Given the description of an element on the screen output the (x, y) to click on. 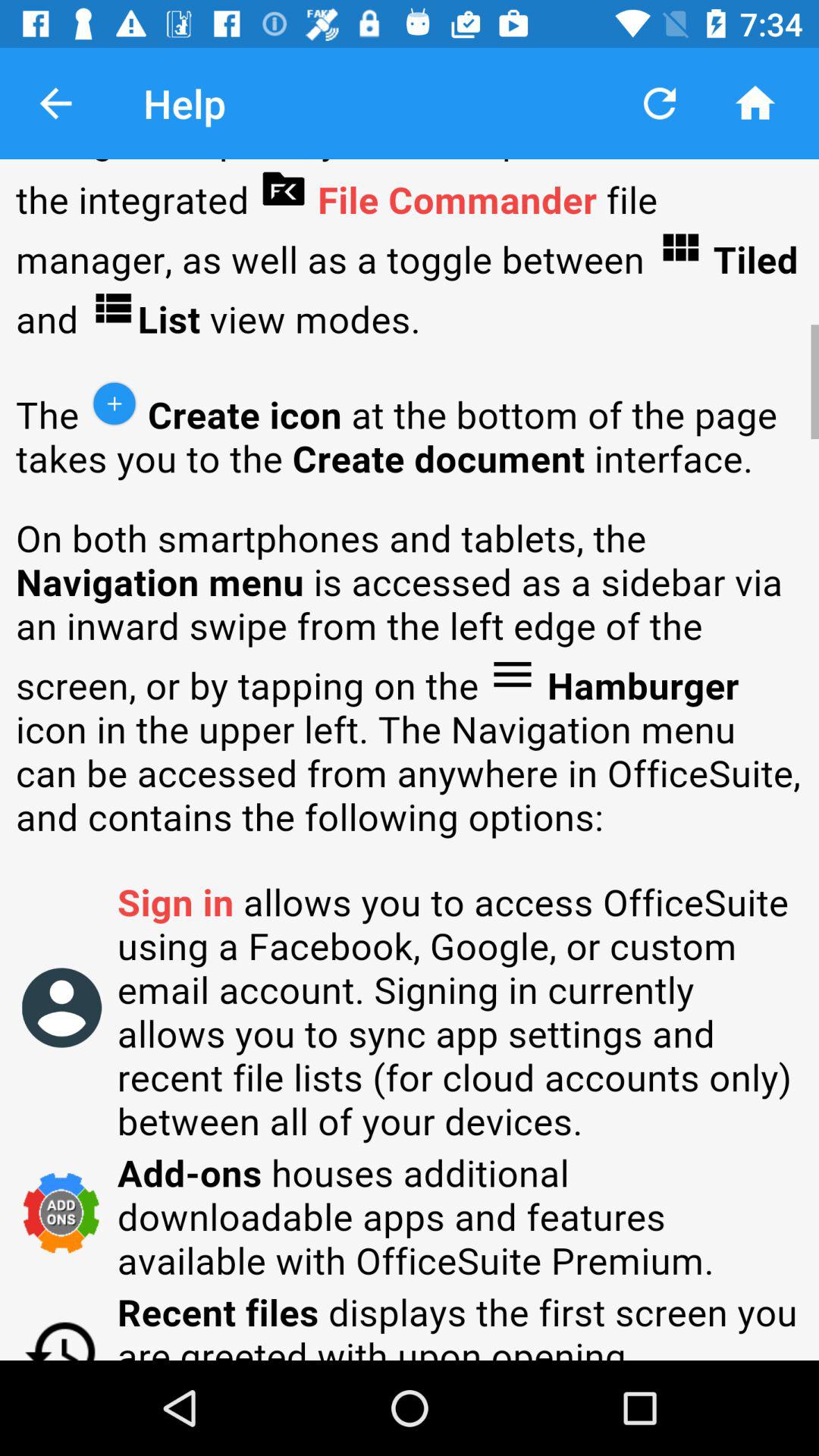
go back (55, 103)
